Given the description of an element on the screen output the (x, y) to click on. 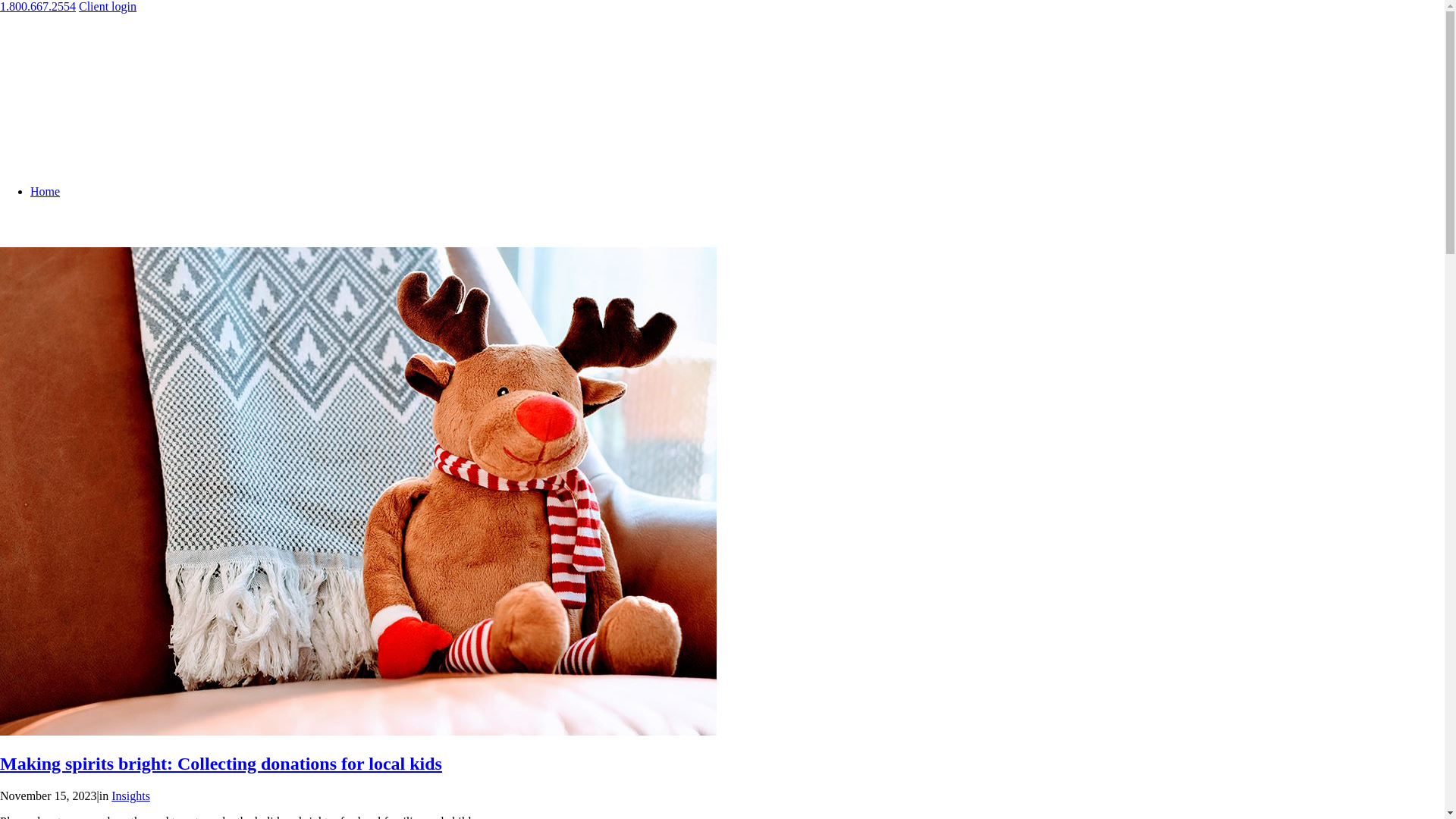
Making spirits bright: Collecting donations for local kids Element type: text (221, 763)
alitis-logo Element type: hover (107, 45)
1.800.667.2554 Element type: text (37, 6)
toy-drive-featured Element type: hover (358, 730)
Our Story Element type: text (84, 615)
alitis-logo Element type: hover (107, 72)
Insights Element type: text (130, 795)
Our Team Element type: text (84, 721)
Our Approach Element type: text (94, 509)
Home Element type: text (44, 191)
Client login Element type: text (107, 6)
Investment Services Element type: text (109, 403)
About Element type: text (45, 297)
